Given the description of an element on the screen output the (x, y) to click on. 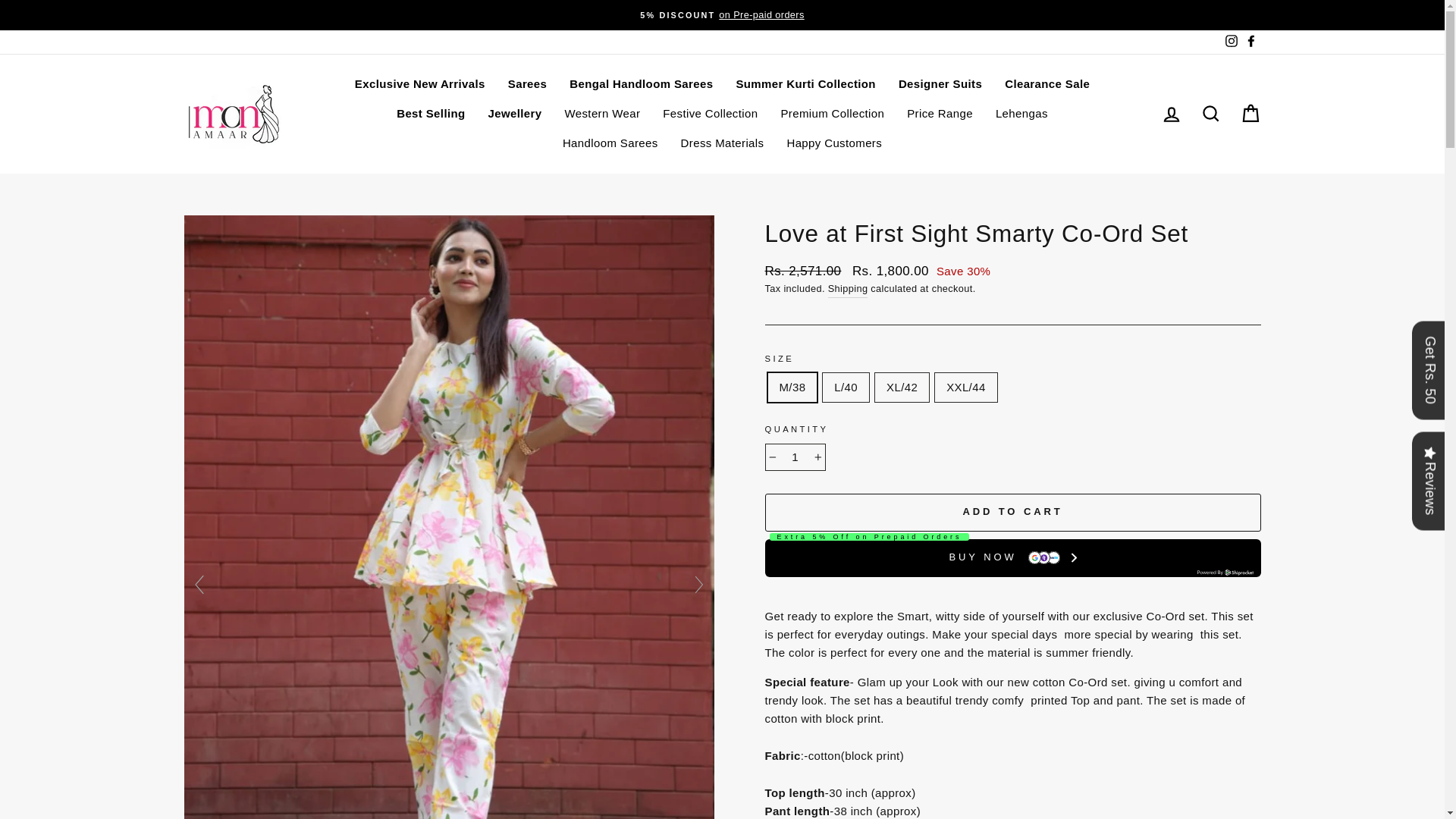
Monamaar on Instagram (1230, 41)
1 (794, 456)
Monamaar on Facebook (1250, 41)
